Given the description of an element on the screen output the (x, y) to click on. 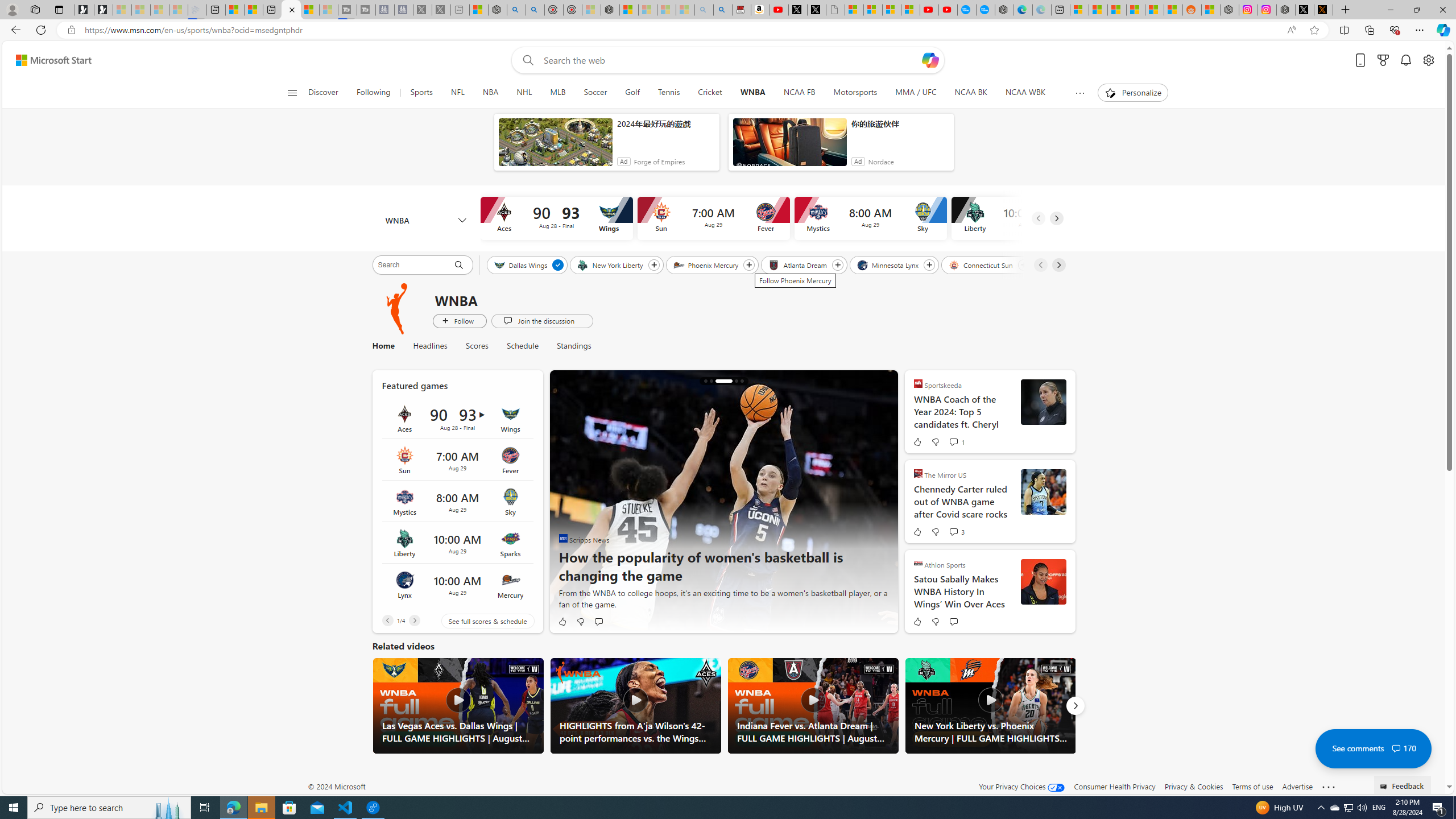
Consumer Health Privacy (1115, 785)
